Given the description of an element on the screen output the (x, y) to click on. 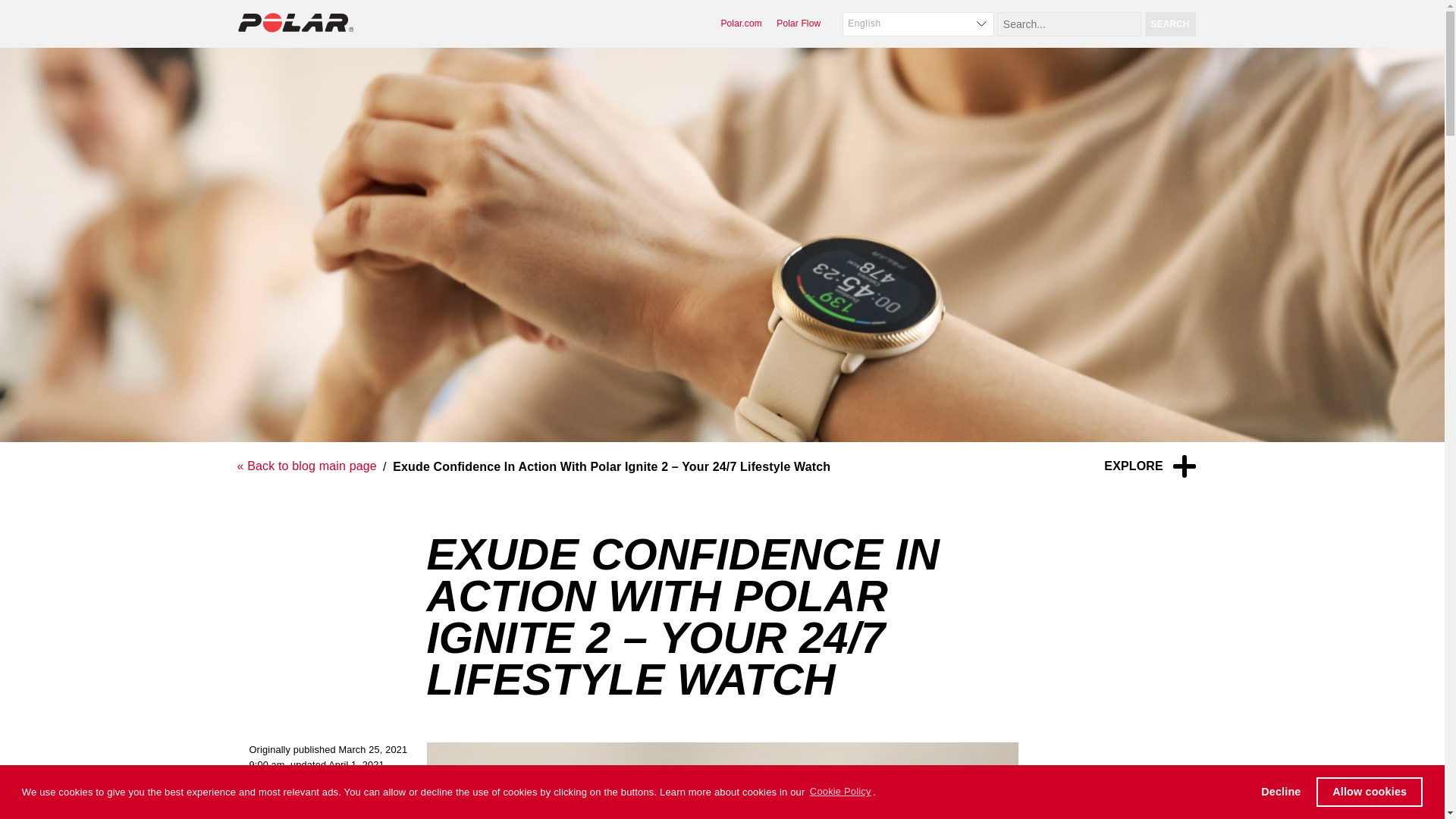
Decline (1280, 791)
POLAR IGNITE (360, 791)
View all posts in category Polar News (283, 791)
Polar.com (740, 23)
Polar Flow (798, 23)
Cookie Policy (840, 792)
View all posts tagged with Polar Ignite (360, 791)
Allow cookies (1369, 791)
Search (1169, 24)
POLAR NEWS (283, 791)
Search... (1069, 24)
Search (1169, 24)
EXPLORE (1149, 466)
